Given the description of an element on the screen output the (x, y) to click on. 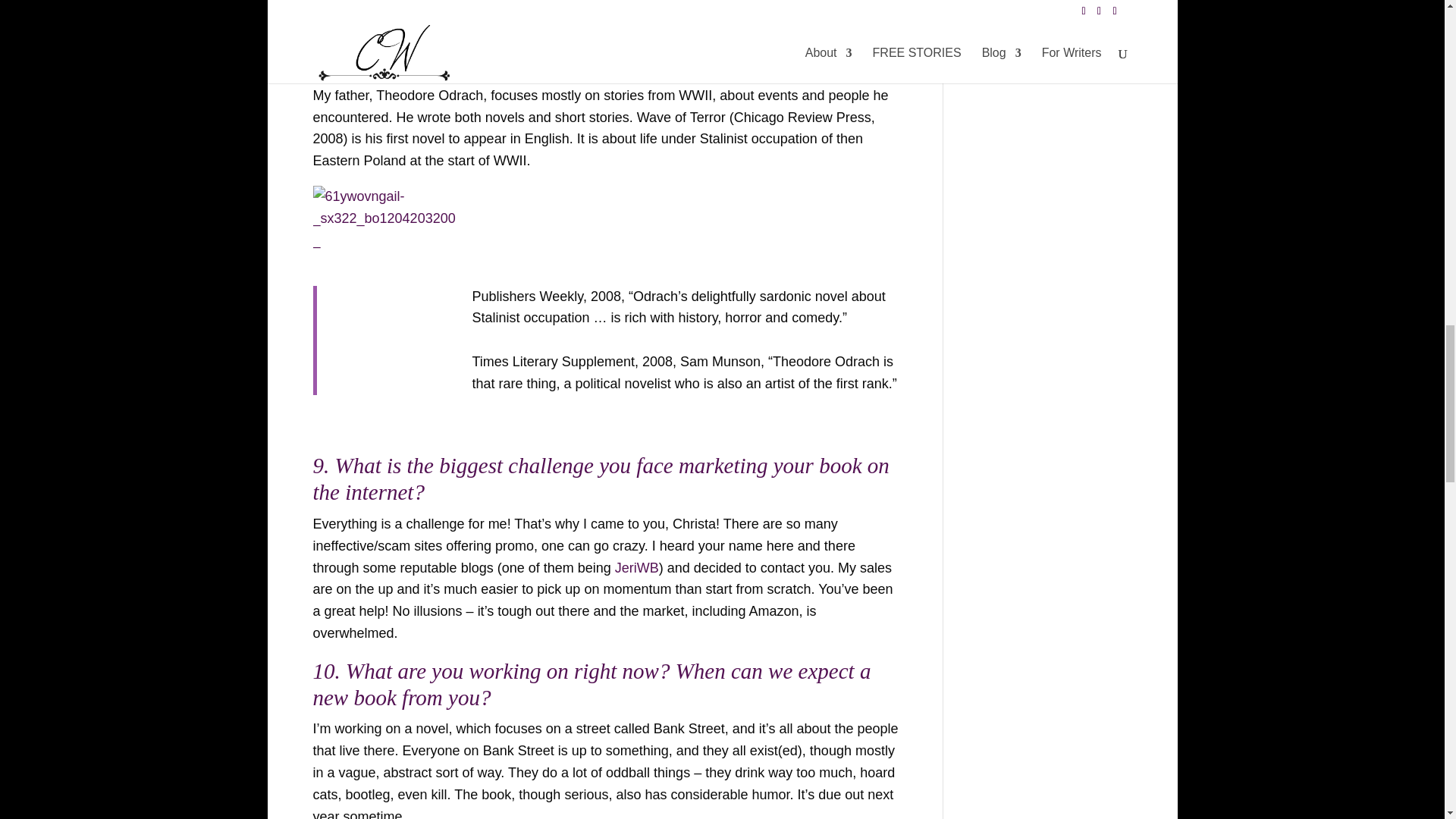
JeriWB (636, 567)
